Given the description of an element on the screen output the (x, y) to click on. 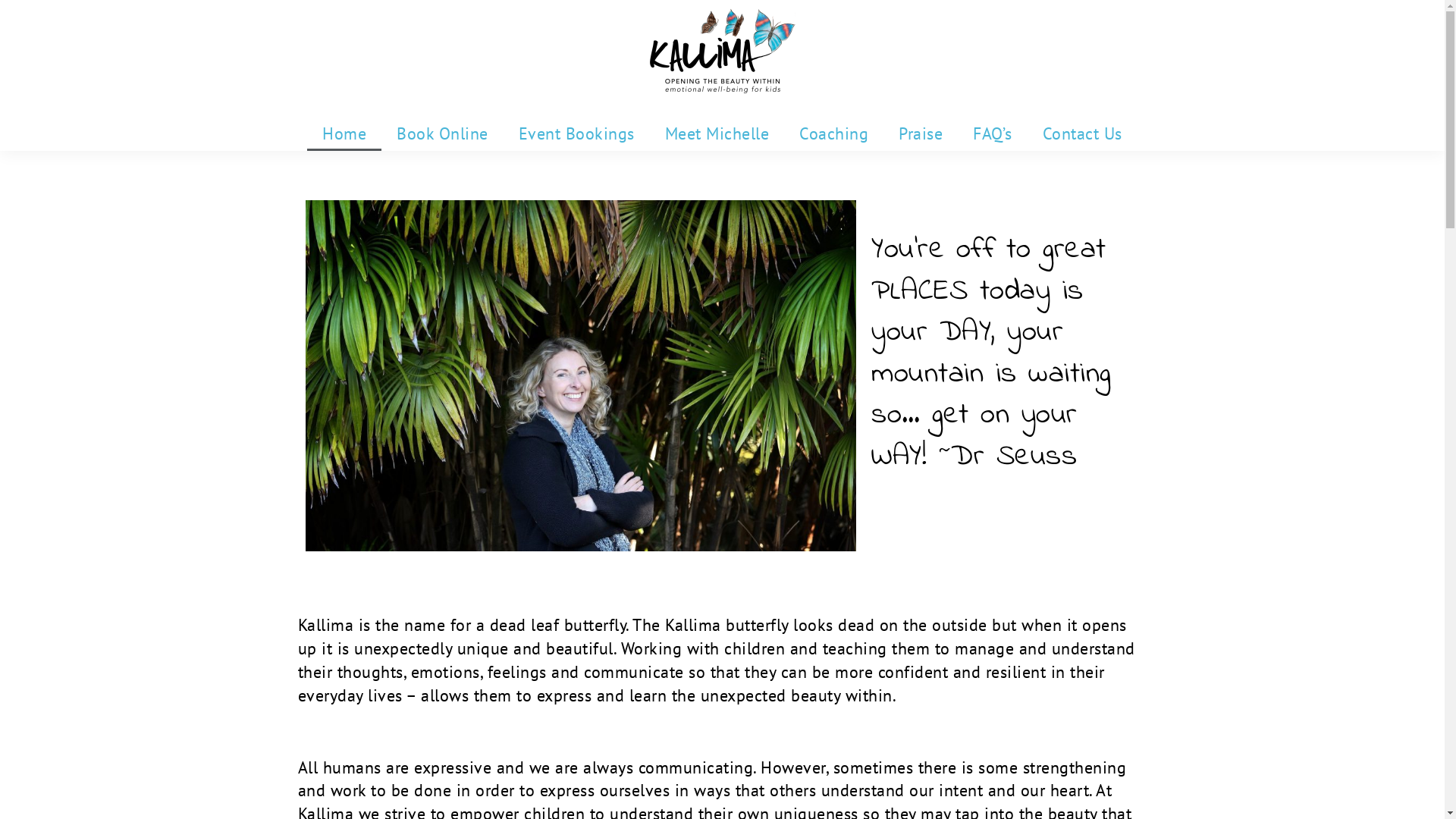
Book Online Element type: text (442, 133)
Contact Us Element type: text (1081, 133)
Home Element type: text (344, 133)
Event Bookings Element type: text (576, 133)
Coaching Element type: text (833, 133)
Praise Element type: text (920, 133)
Meet Michelle Element type: text (716, 133)
